Given the description of an element on the screen output the (x, y) to click on. 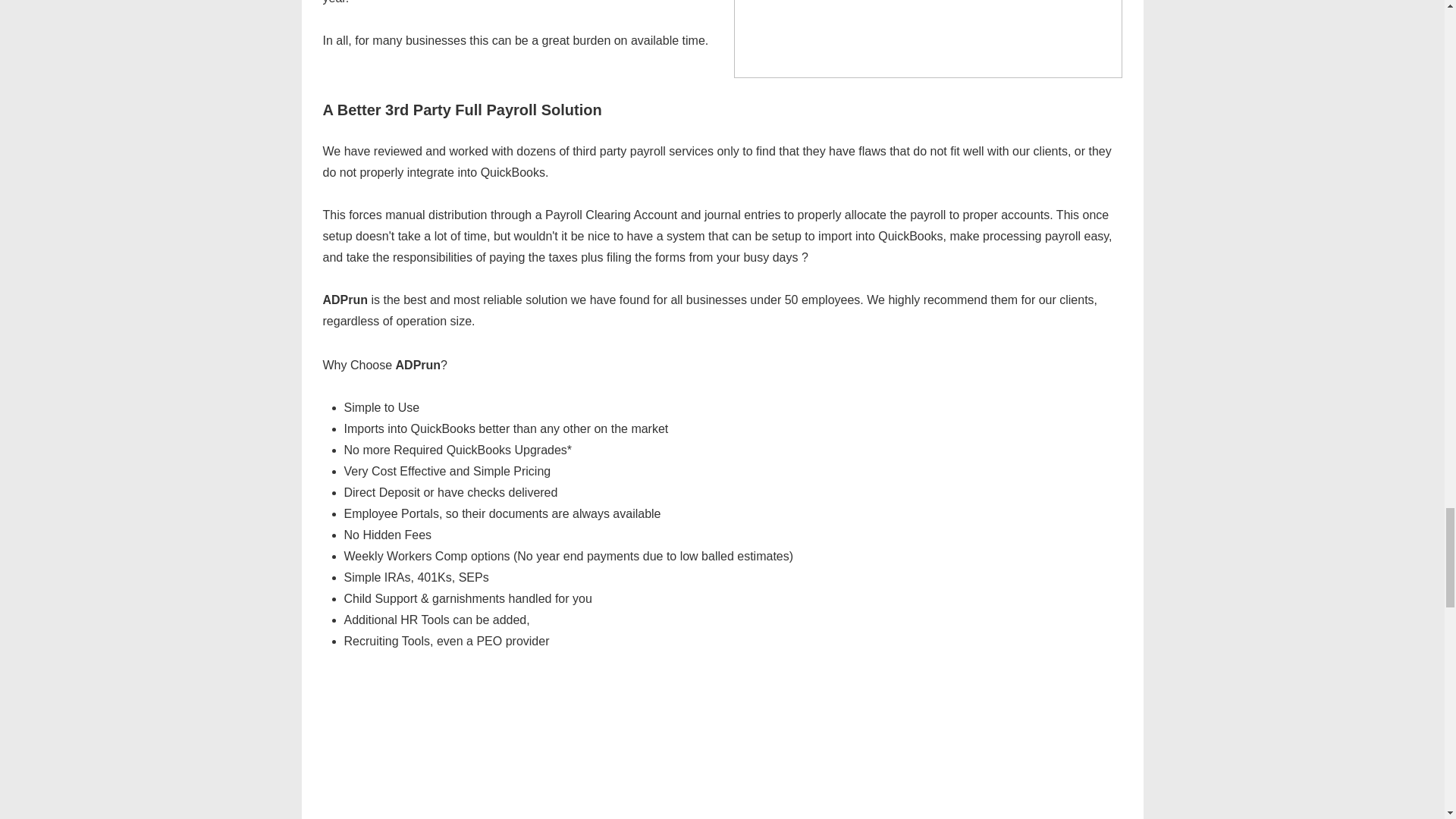
therighttools (927, 38)
